Given the description of an element on the screen output the (x, y) to click on. 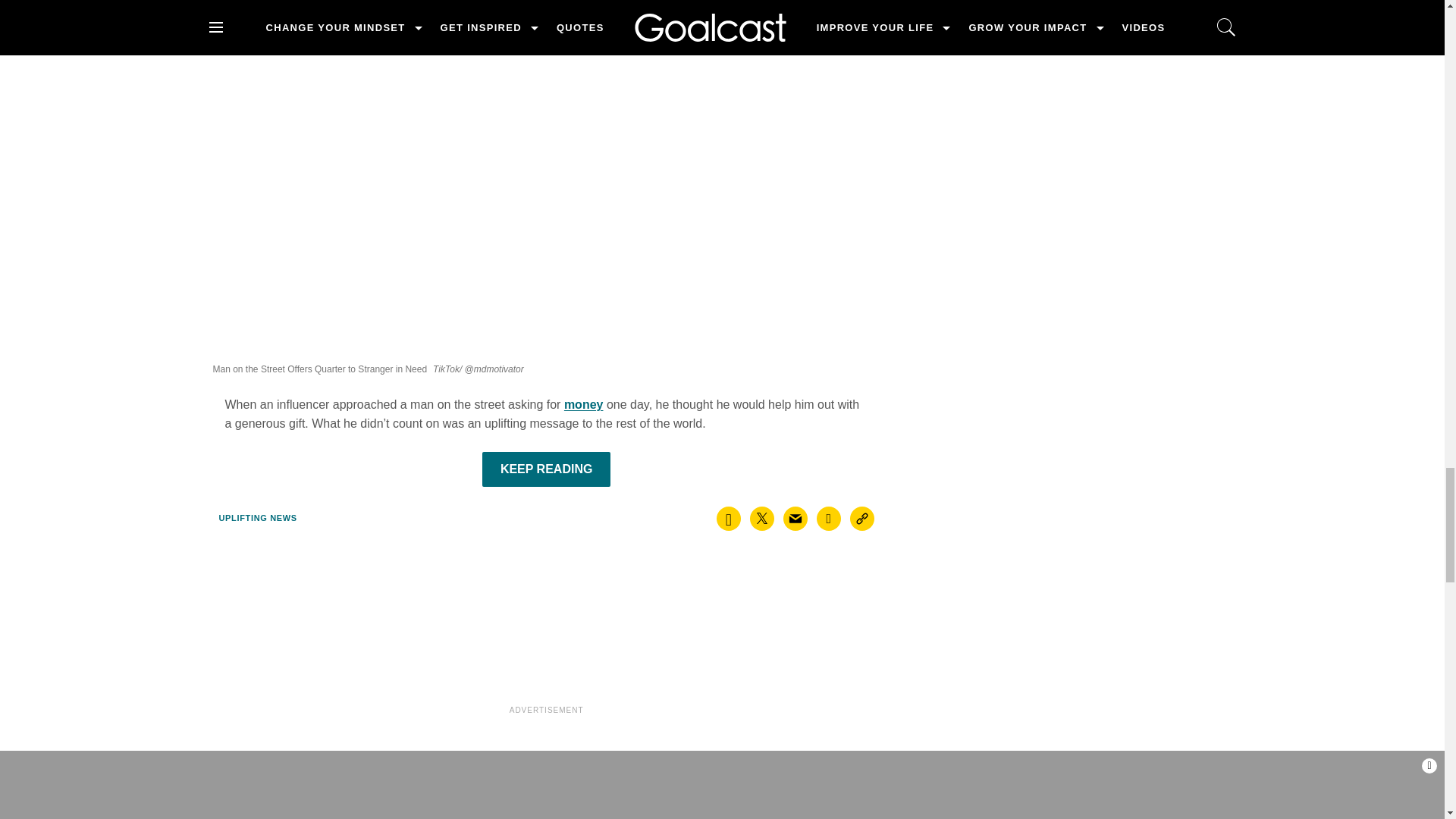
Copy this link to clipboard (862, 518)
